Given the description of an element on the screen output the (x, y) to click on. 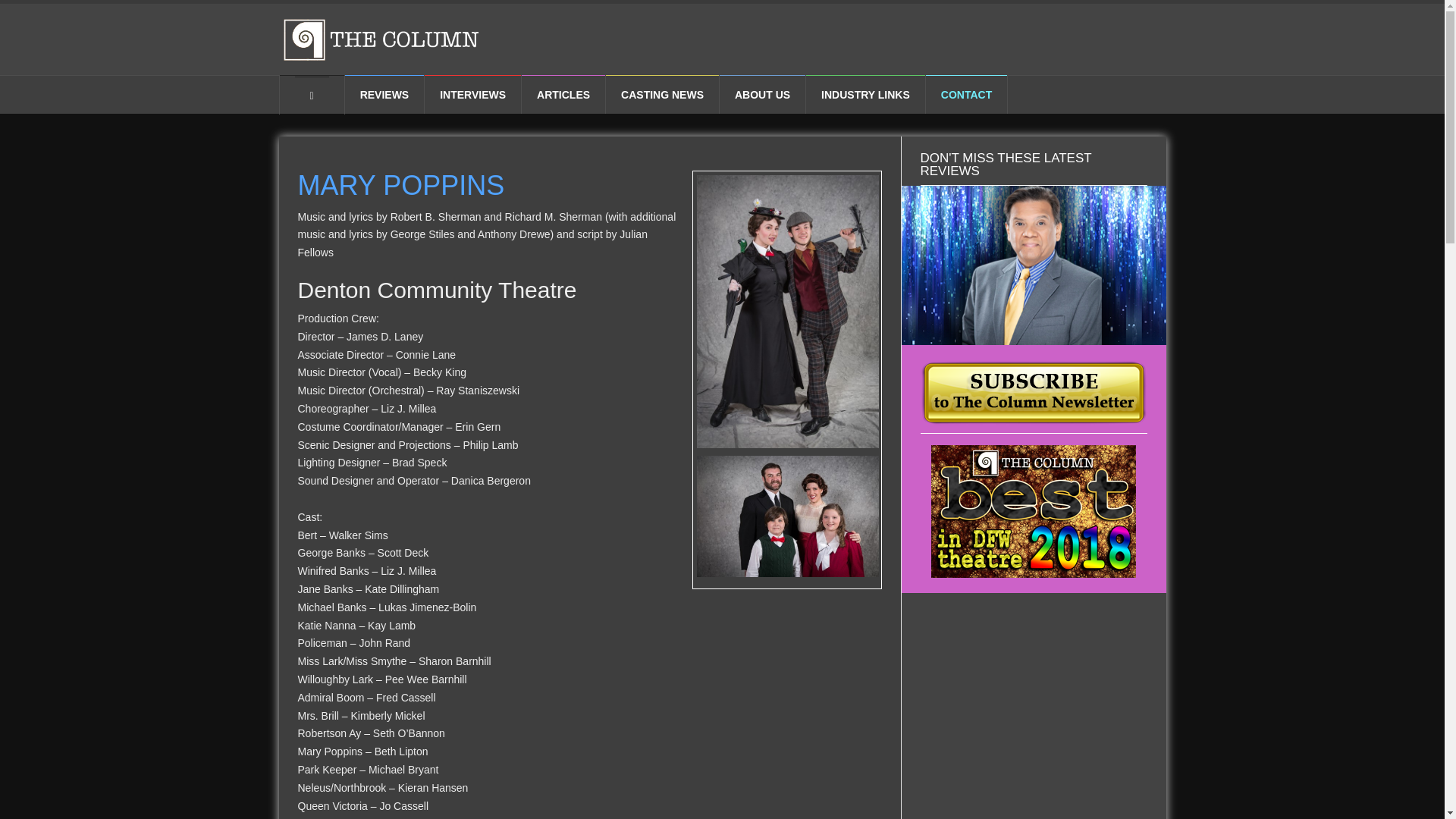
CASTING NEWS (662, 94)
REVIEWS (385, 94)
ARTICLES (563, 94)
CONTACT (966, 94)
INTERVIEWS (473, 94)
ABOUT US (762, 94)
INDUSTRY LINKS (865, 94)
